Given the description of an element on the screen output the (x, y) to click on. 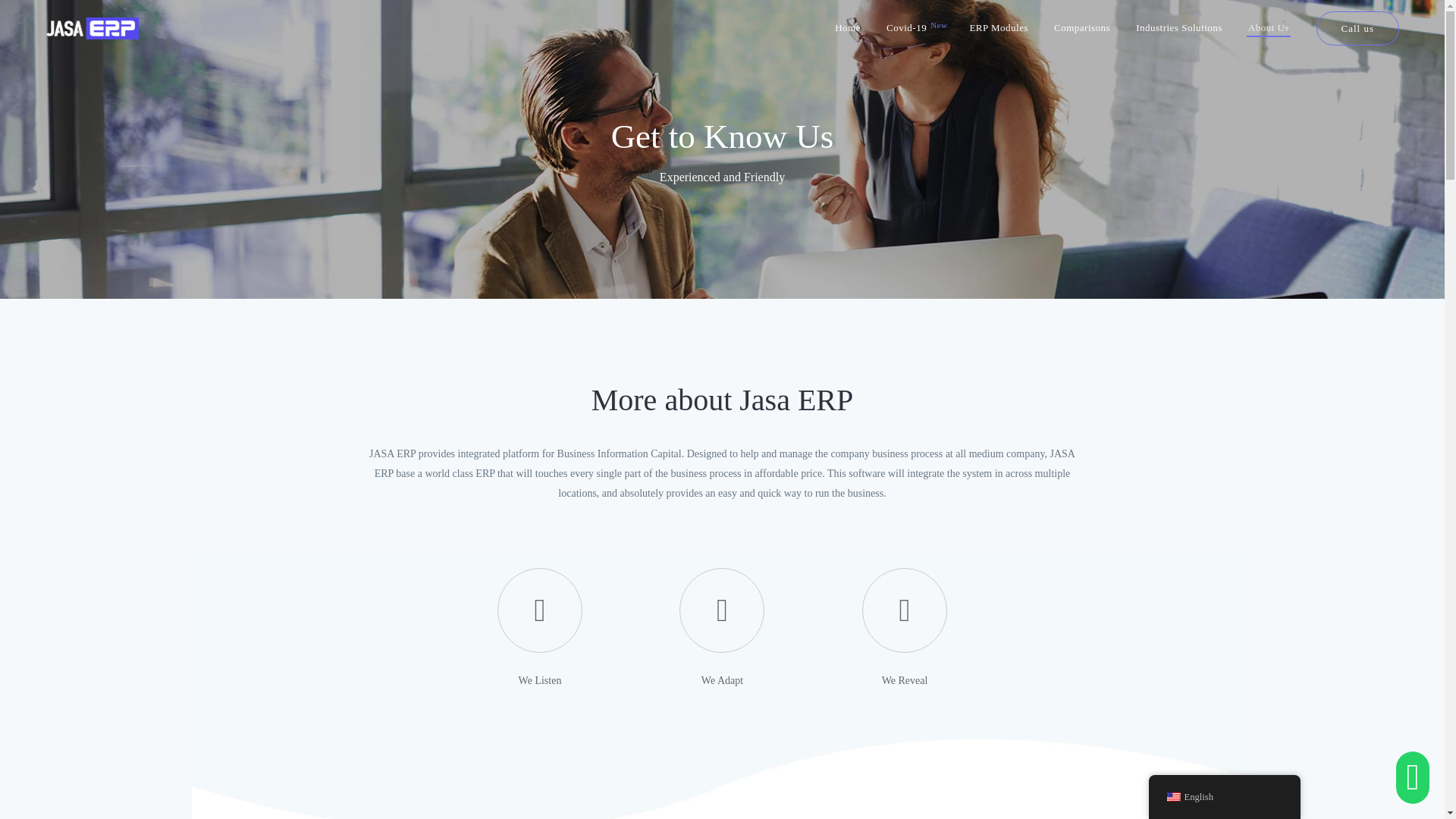
Covid-19 (914, 28)
Industries Solutions (1178, 28)
ERP Modules (998, 28)
Home (847, 28)
Comparisons (1081, 28)
English (1172, 796)
